Given the description of an element on the screen output the (x, y) to click on. 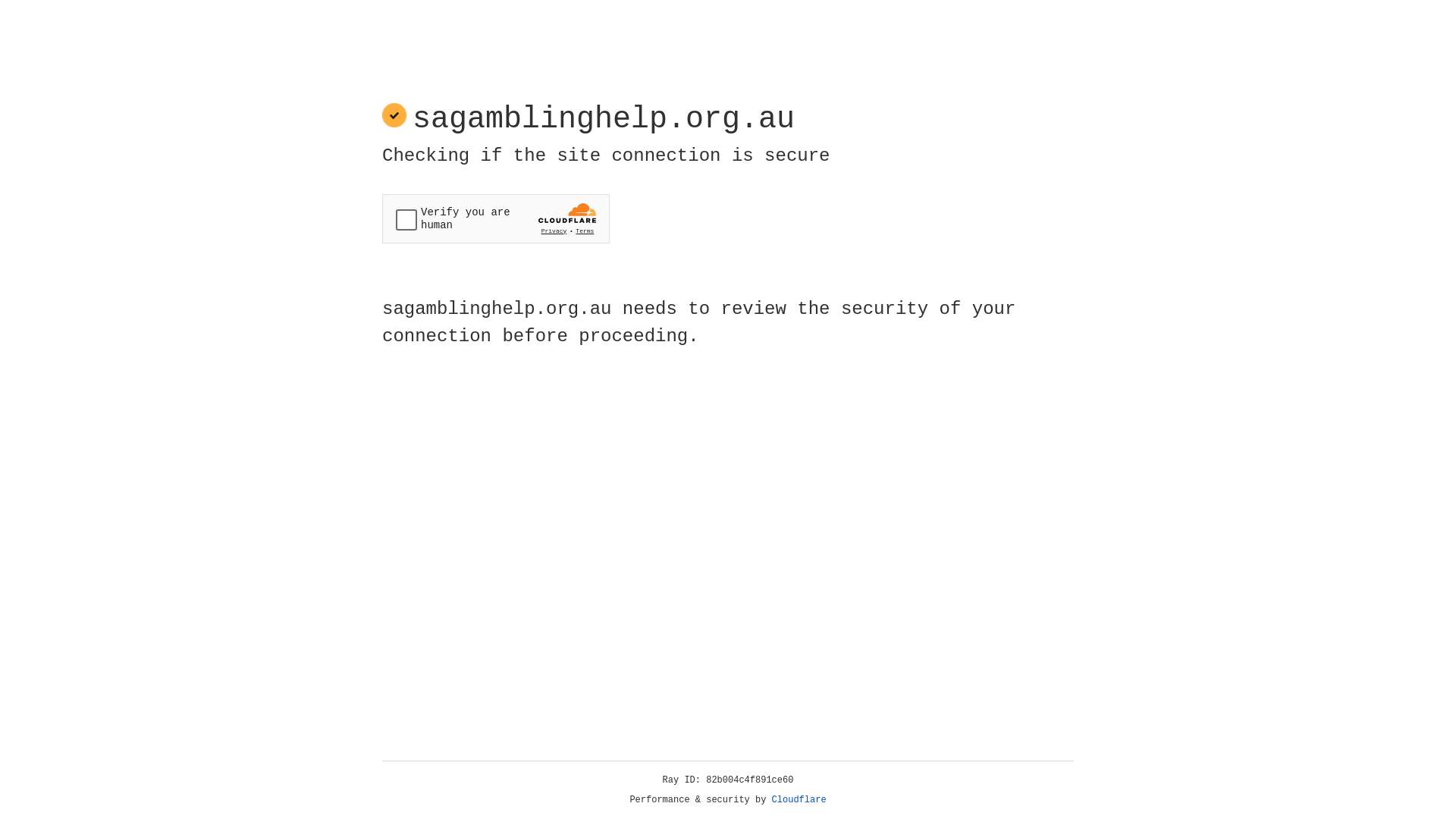
Cloudflare Element type: text (798, 799)
Widget containing a Cloudflare security challenge Element type: hover (495, 218)
